Given the description of an element on the screen output the (x, y) to click on. 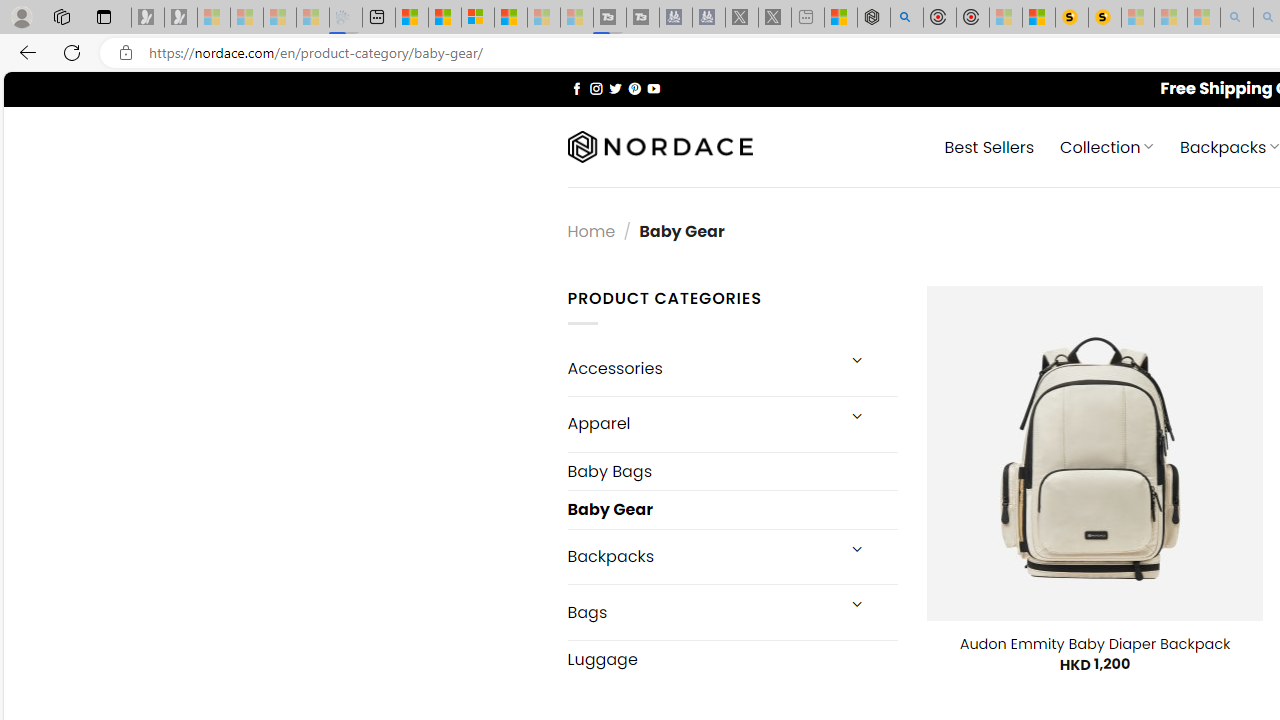
Baby Bags (732, 470)
Microsoft Start - Sleeping (543, 17)
Baby Gear (732, 509)
Follow on YouTube (653, 88)
Follow on Twitter (615, 88)
Accessories (700, 368)
